Given the description of an element on the screen output the (x, y) to click on. 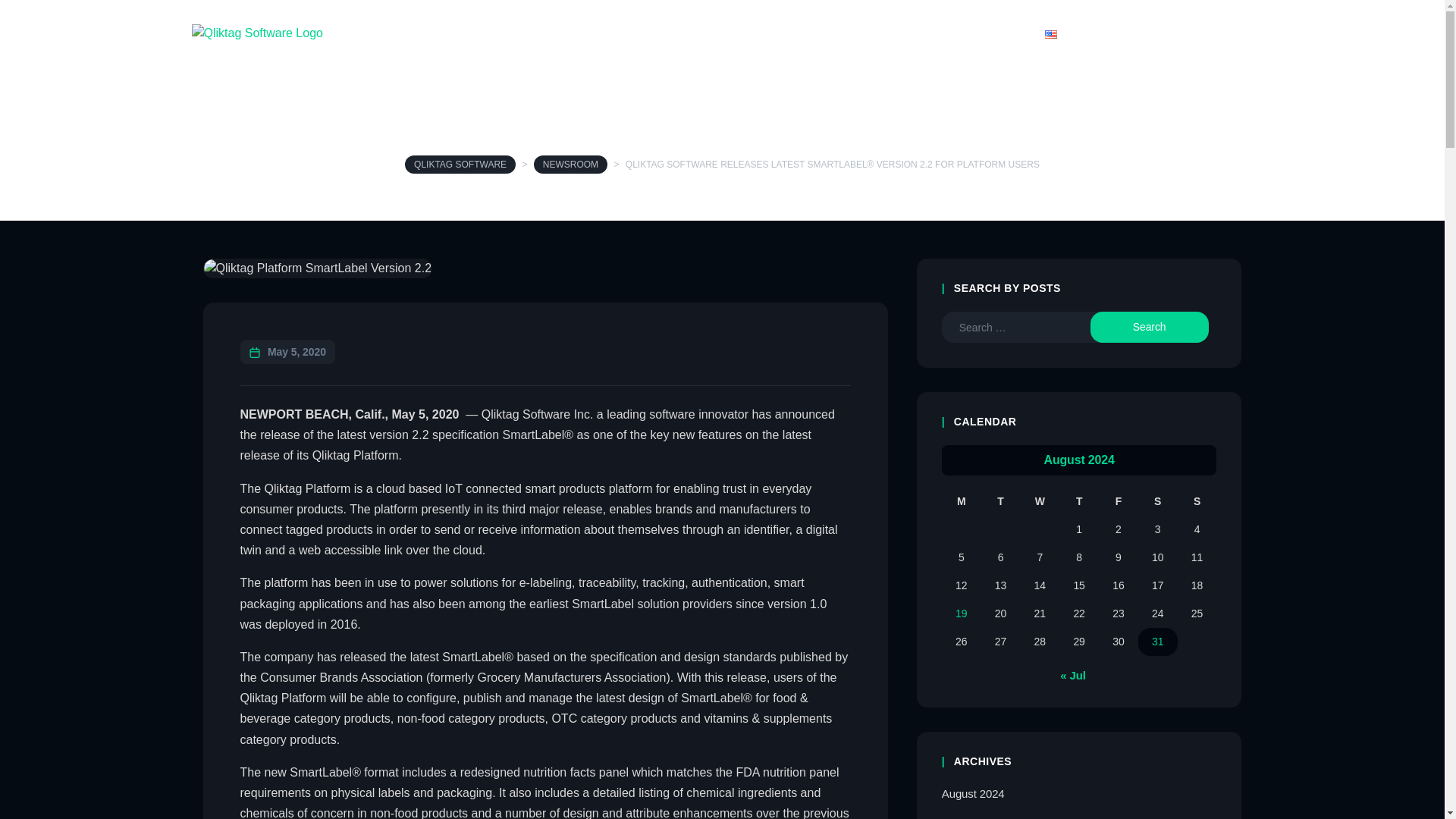
Solutions (658, 32)
Company (914, 32)
Wednesday (1039, 501)
NEWSROOM (570, 164)
Go to the Newsroom Category archives. (570, 164)
Search (1149, 327)
Contact (995, 32)
Resources (751, 32)
Thursday (1079, 501)
Tuesday (1000, 501)
